Given the description of an element on the screen output the (x, y) to click on. 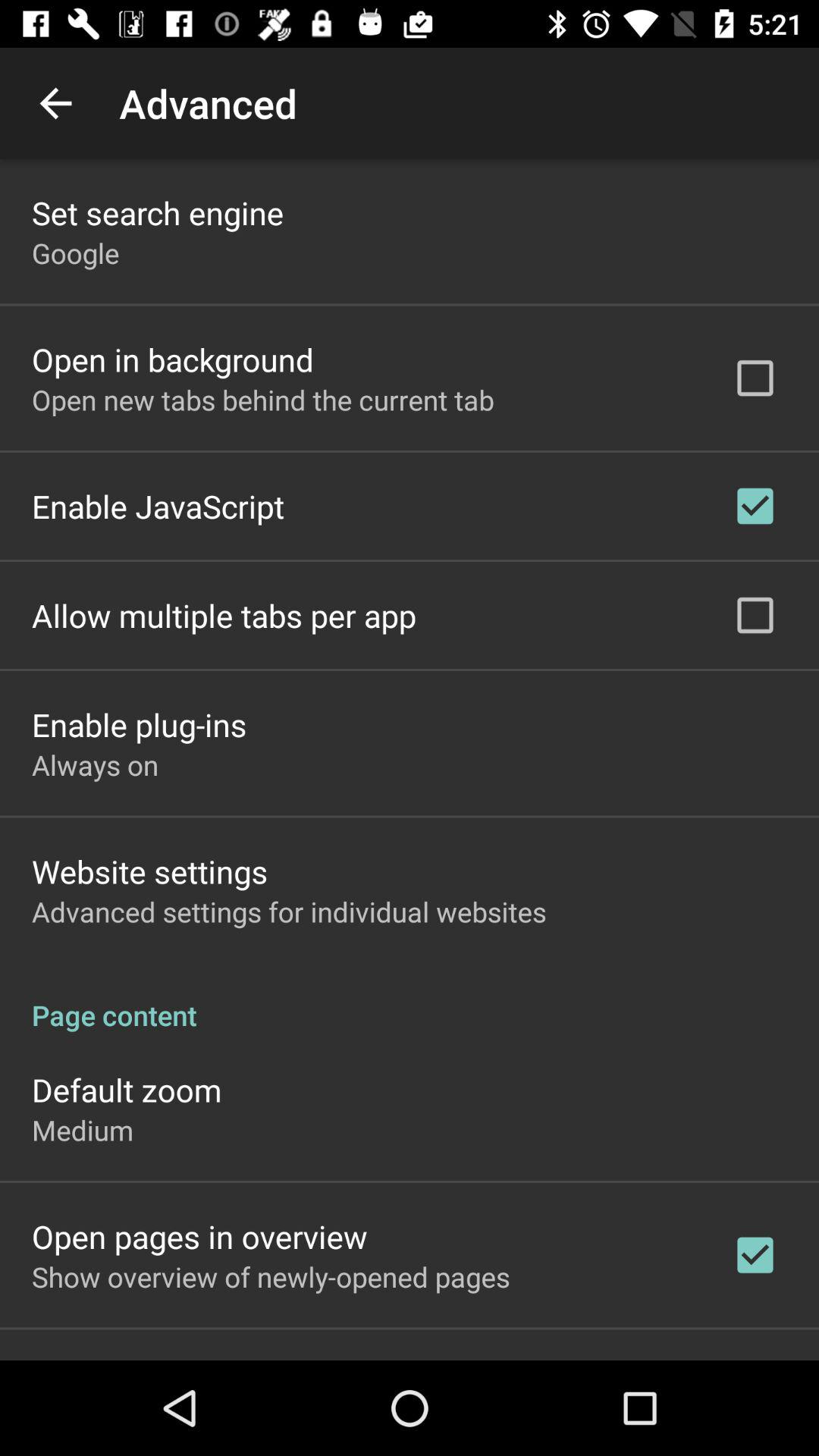
turn on app below default zoom (82, 1129)
